Given the description of an element on the screen output the (x, y) to click on. 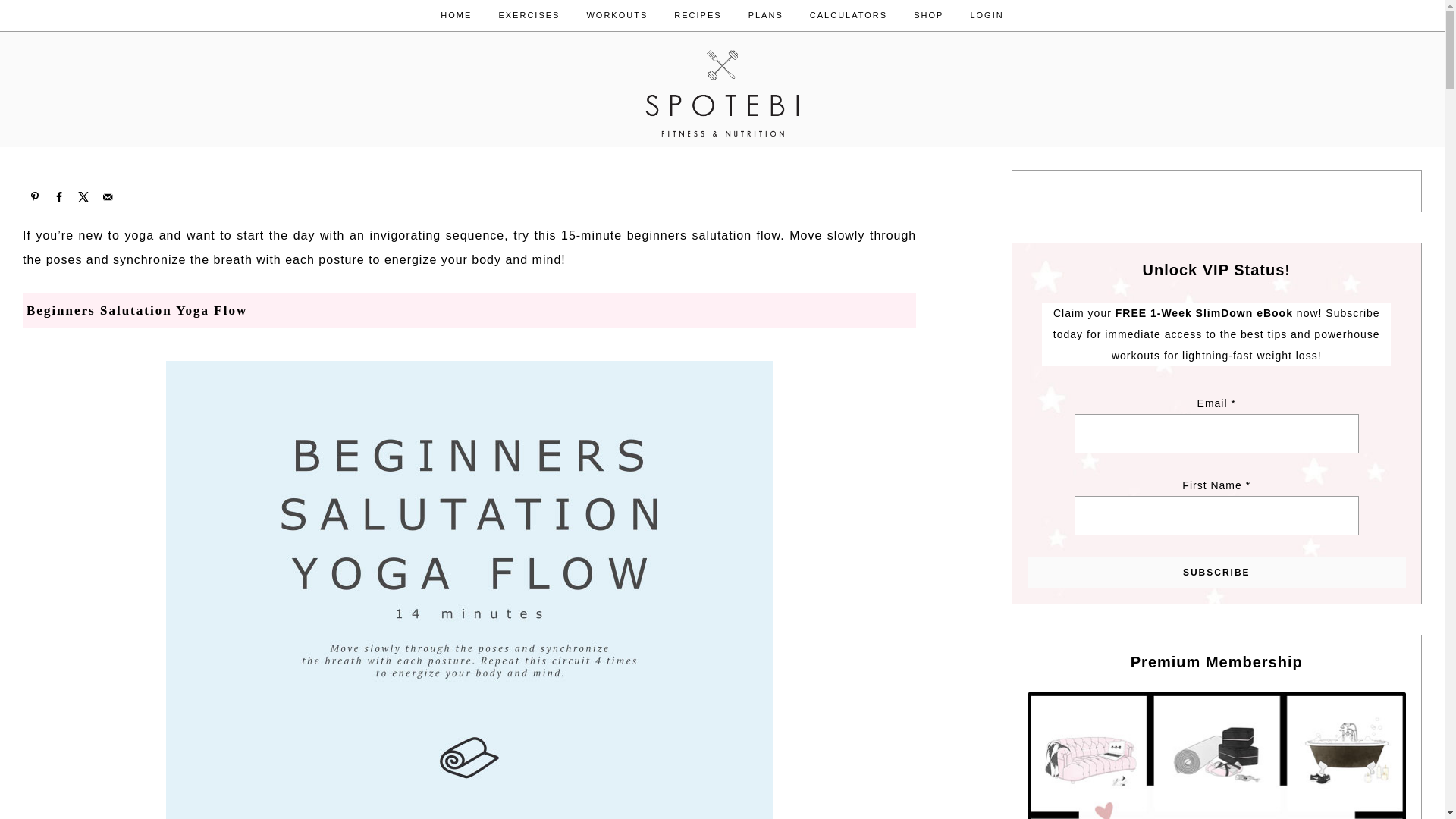
Save to Pinterest (34, 197)
Subscribe (1216, 572)
Share on X (83, 197)
RECIPES (697, 15)
WORKOUTS (617, 15)
Send over email (107, 197)
PLANS (765, 15)
EXERCISES (528, 15)
LOGIN (986, 15)
HOME (456, 15)
Share on Facebook (58, 197)
CALCULATORS (847, 15)
SHOP (928, 15)
